Given the description of an element on the screen output the (x, y) to click on. 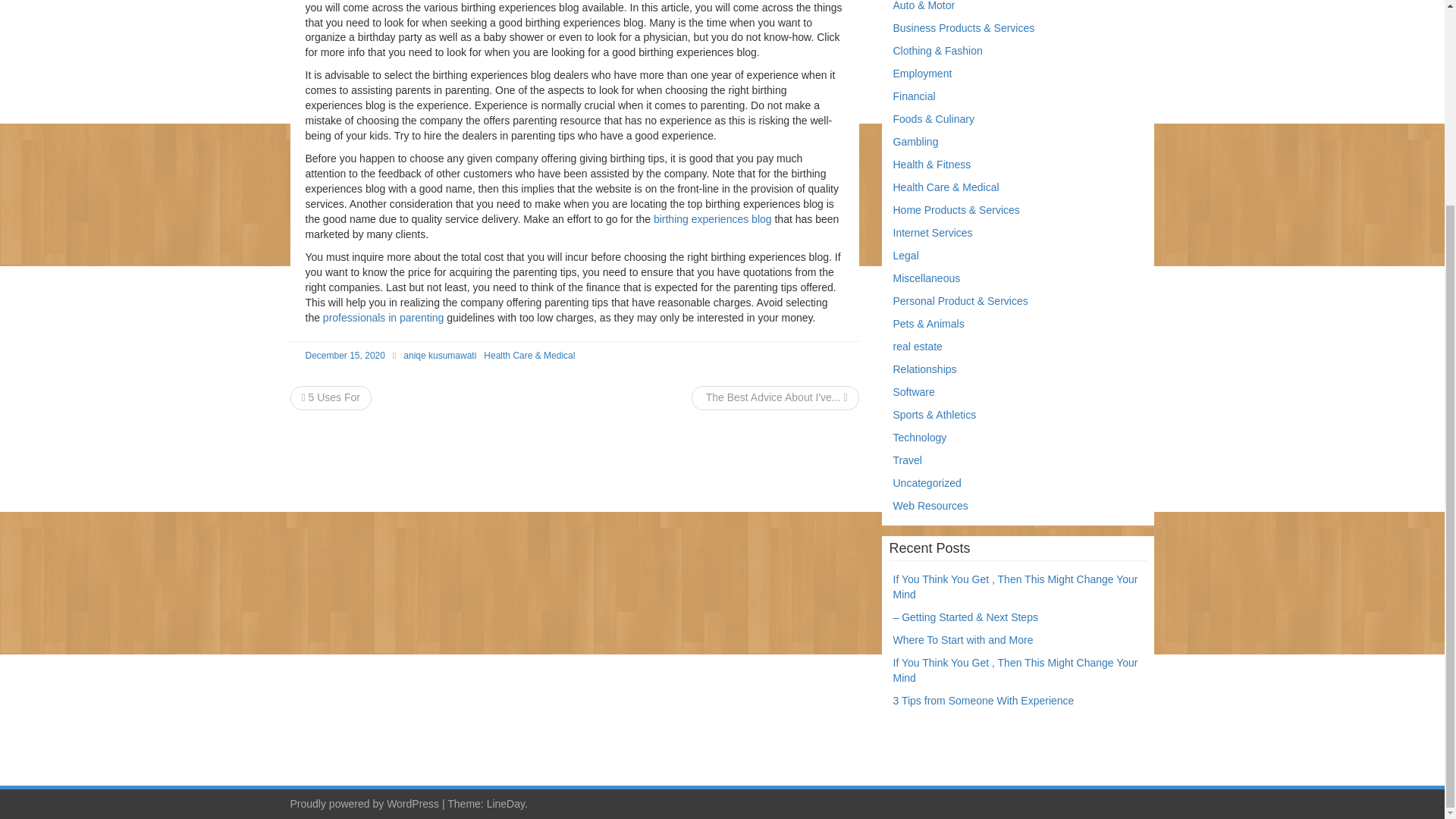
Travel (907, 460)
Technology (920, 437)
 The Best Advice About I've...  (775, 397)
Where To Start with and More (963, 639)
birthing experiences blog (712, 218)
Uncategorized (926, 482)
Financial (914, 96)
If You Think You Get , Then This Might Change Your Mind (1015, 669)
Legal (905, 255)
 5 Uses For (330, 397)
real estate (917, 346)
December 15, 2020 (344, 355)
Gambling (916, 141)
Internet Services (932, 232)
Employment (922, 73)
